Given the description of an element on the screen output the (x, y) to click on. 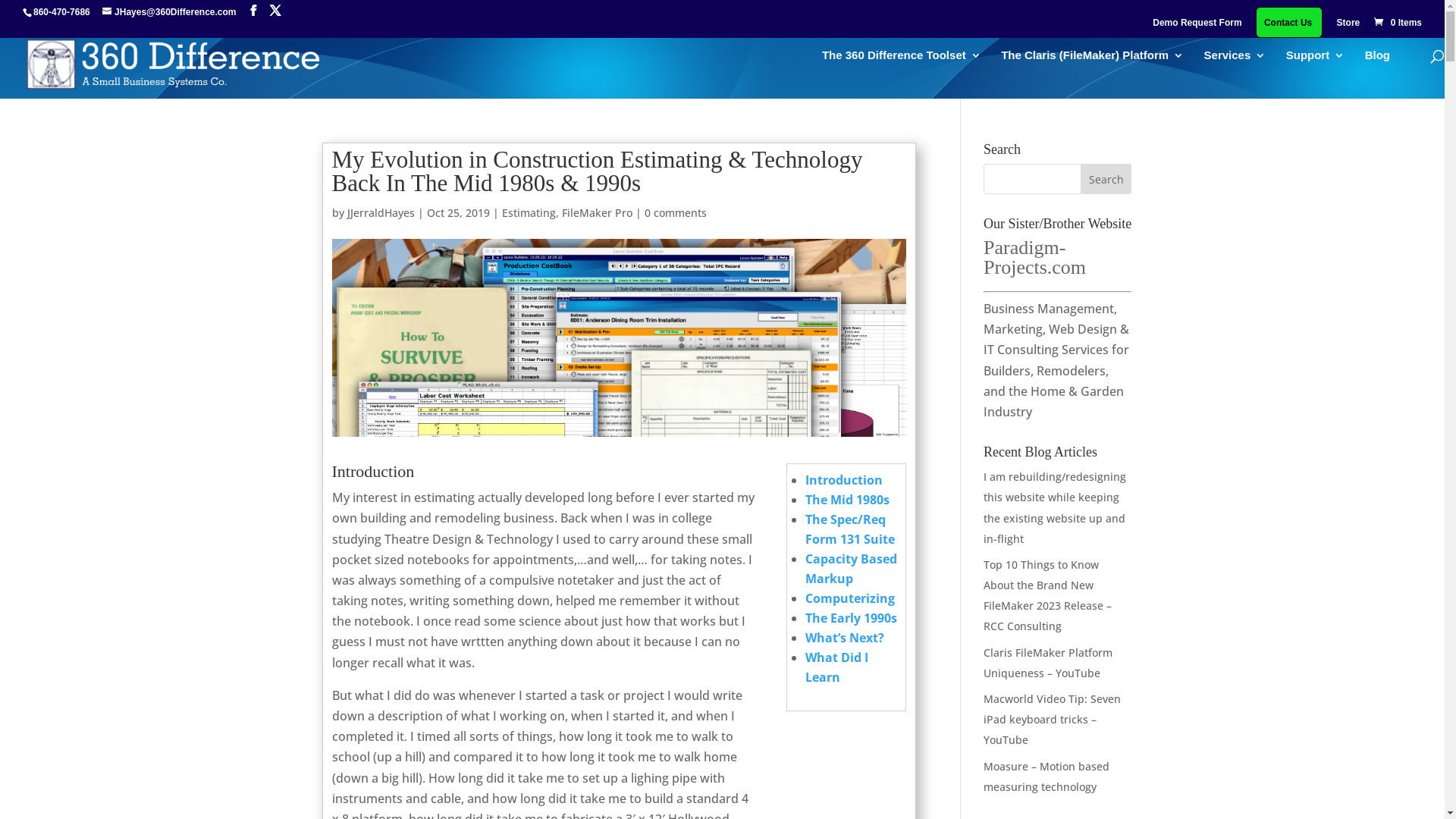
Blog Element type: text (1377, 67)
Capacity Based Markup Element type: text (851, 568)
Store Element type: text (1348, 26)
The Claris (FileMaker) Platform Element type: text (1092, 67)
Computerizing Element type: text (849, 597)
Contact Us Element type: text (1287, 26)
0 comments Element type: text (675, 212)
0 Items Element type: text (1396, 22)
The Mid 1980s Element type: text (847, 499)
JJerraldHayes Element type: text (380, 212)
The Early 1990s Element type: text (851, 617)
Paradigm-Projects.com Element type: text (1034, 257)
Demo Request Form Element type: text (1196, 26)
Support Element type: text (1315, 67)
Search Element type: text (1106, 178)
Services Element type: text (1235, 67)
FileMaker Pro Element type: text (596, 212)
Introduction Element type: text (843, 479)
JHayes@360Difference.com Element type: text (168, 11)
The 360 Difference Toolset Element type: text (901, 67)
What Did I Learn Element type: text (836, 667)
The Spec/Req Form 131 Suite Element type: text (849, 529)
Estimating Element type: text (528, 212)
